Given the description of an element on the screen output the (x, y) to click on. 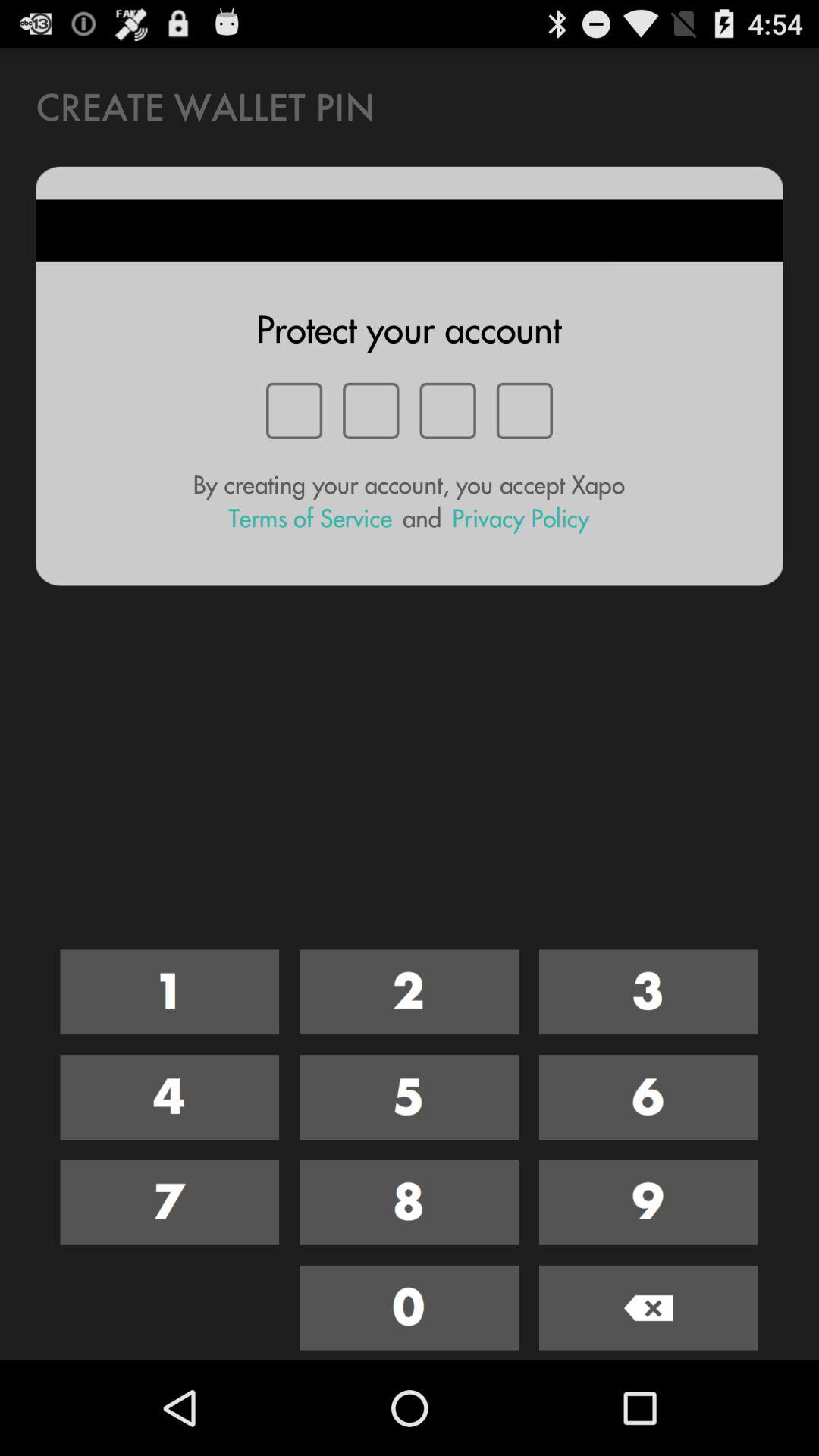
eight (408, 1202)
